Given the description of an element on the screen output the (x, y) to click on. 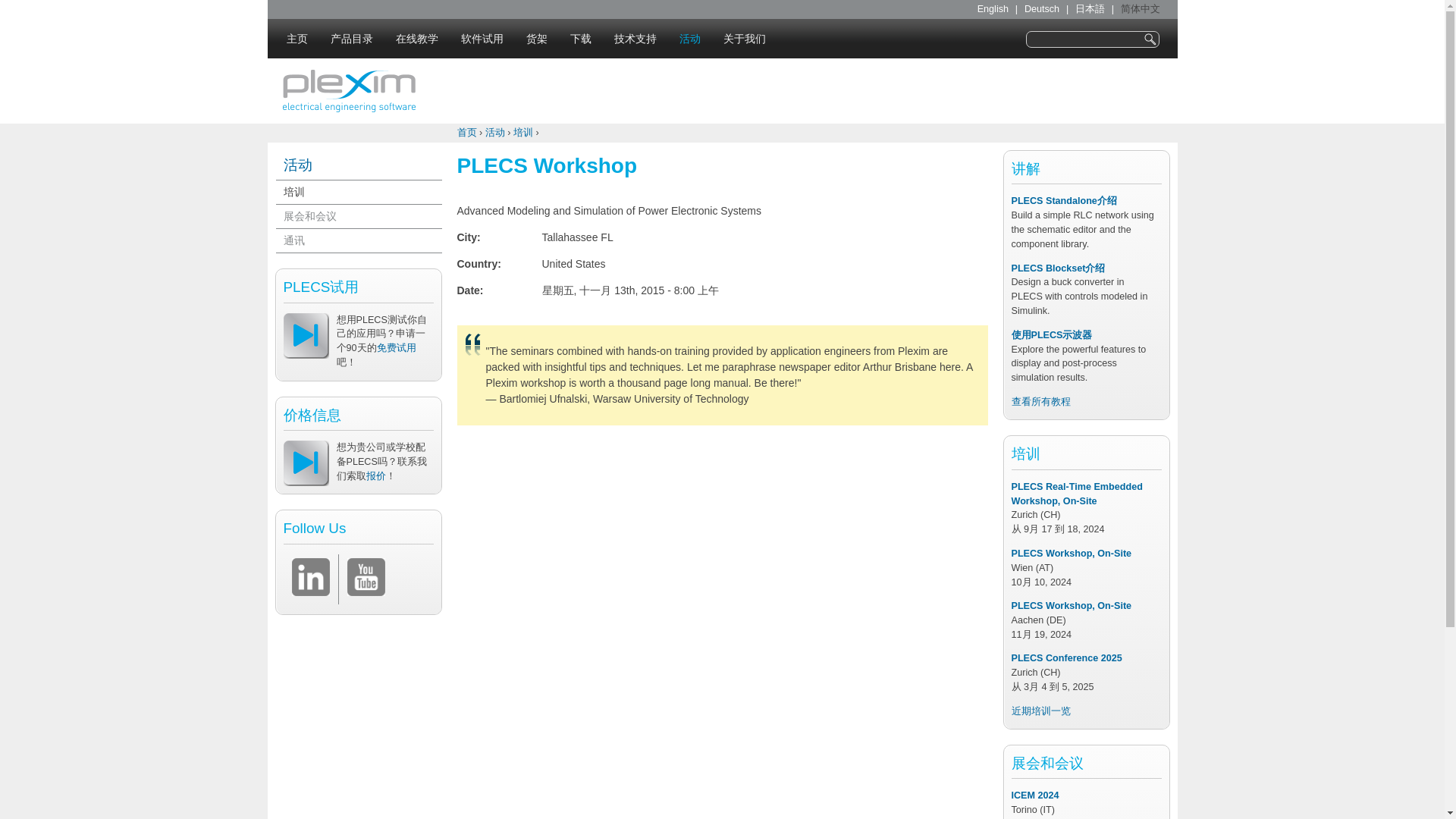
Deutsch (1034, 9)
English (992, 9)
